Given the description of an element on the screen output the (x, y) to click on. 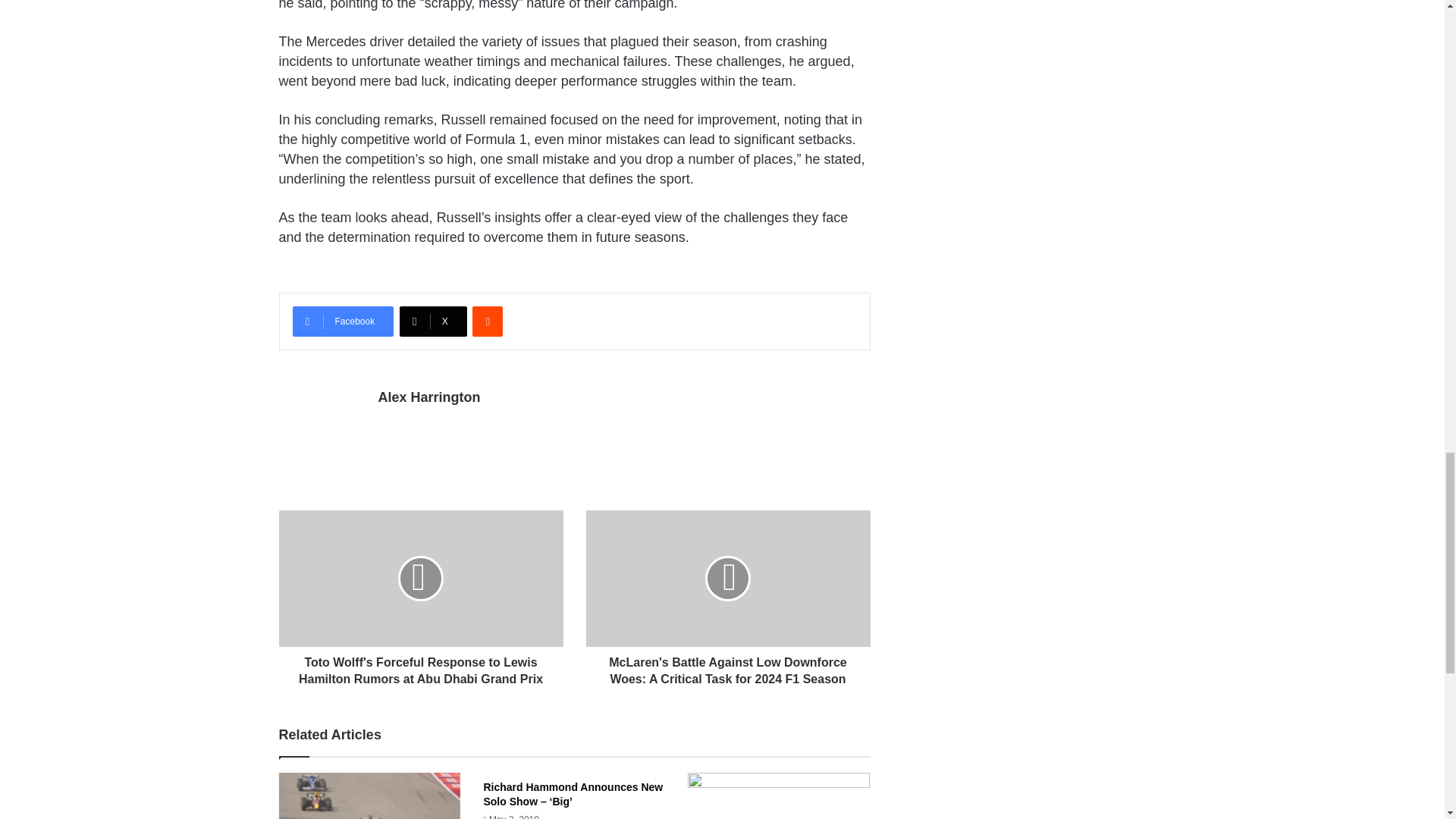
X (432, 321)
Reddit (486, 321)
Facebook (343, 321)
